Given the description of an element on the screen output the (x, y) to click on. 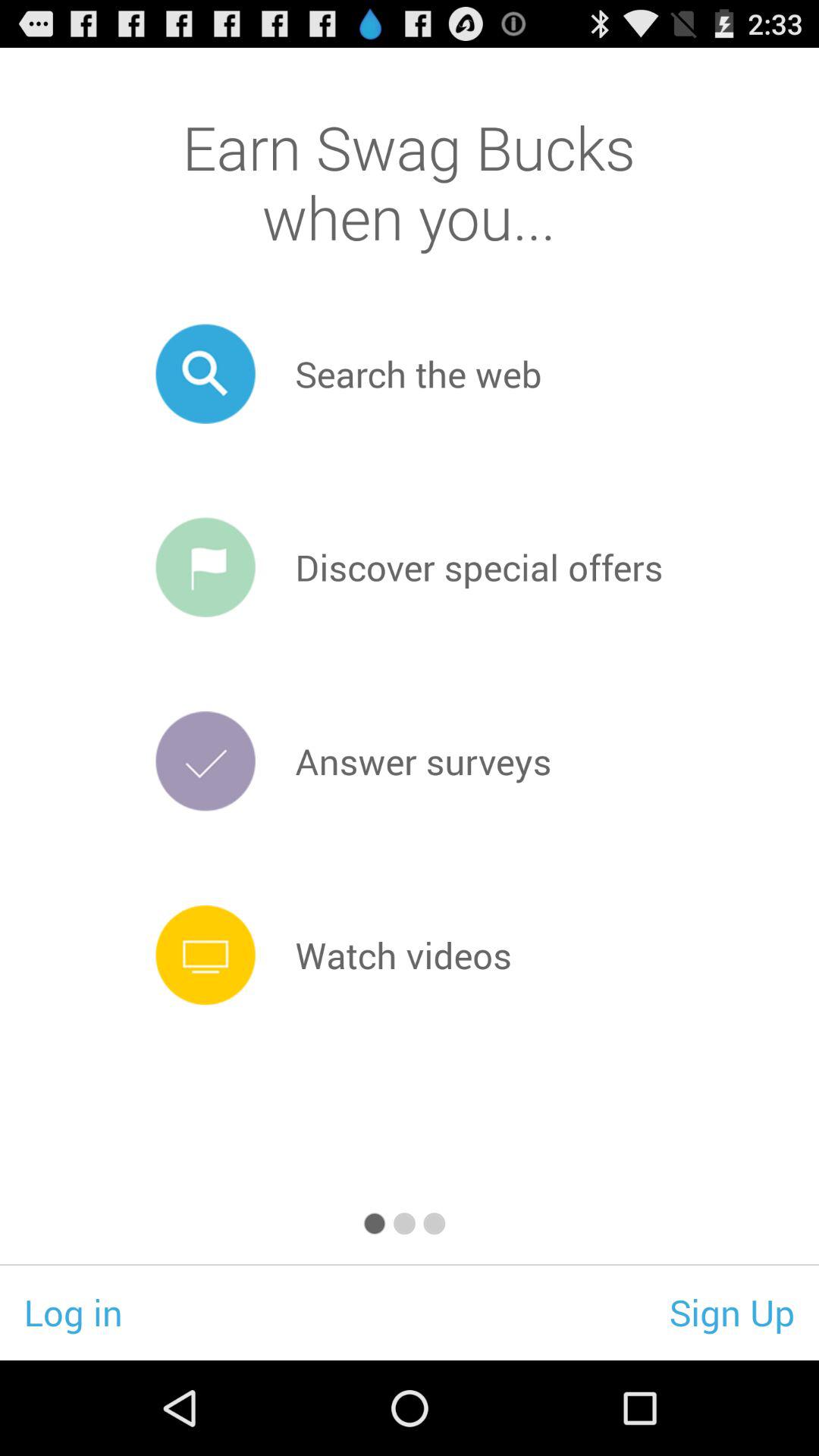
press app next to the sign up (73, 1312)
